Given the description of an element on the screen output the (x, y) to click on. 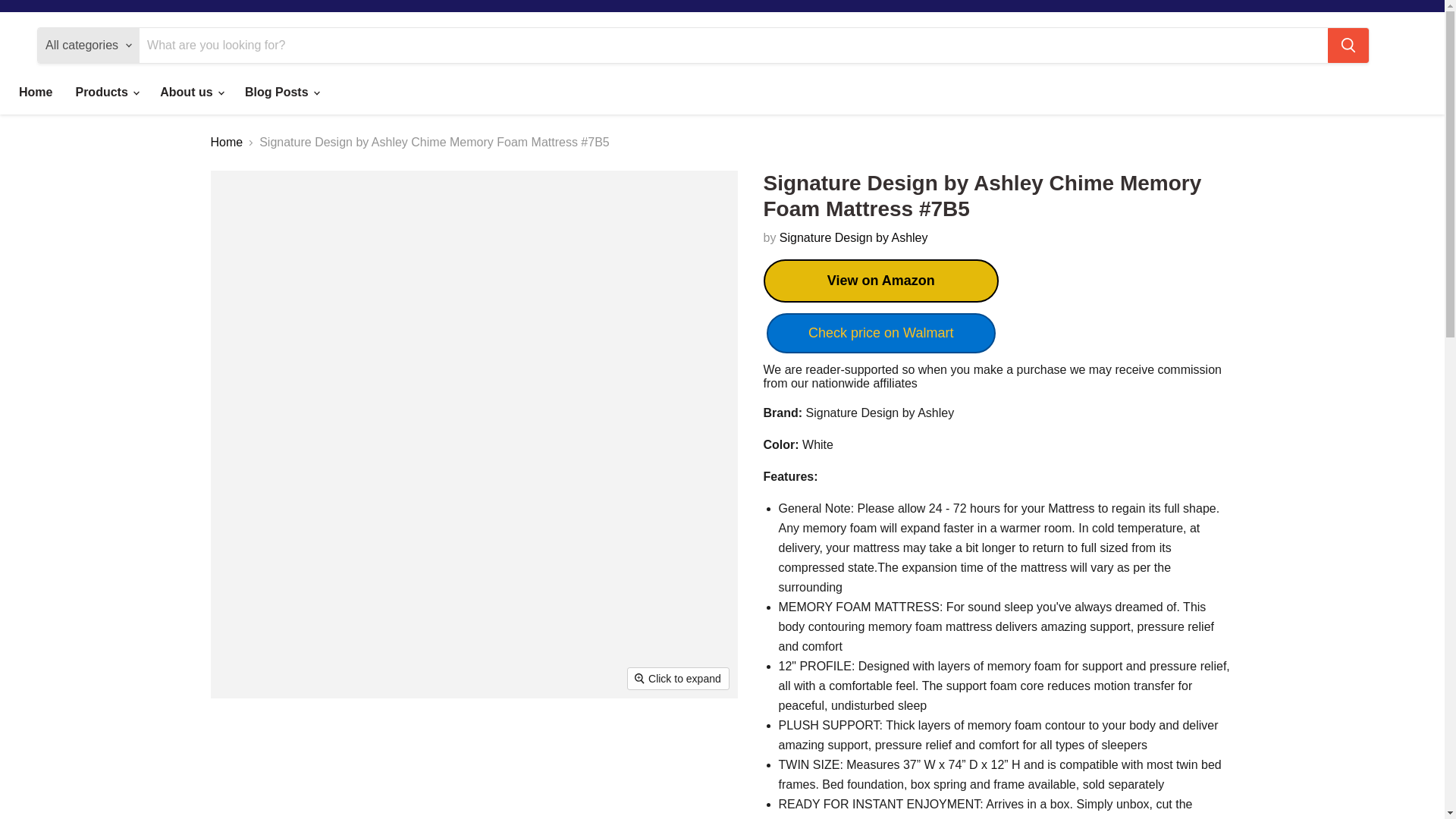
Signature Design by Ashley (853, 237)
Home (35, 92)
